Given the description of an element on the screen output the (x, y) to click on. 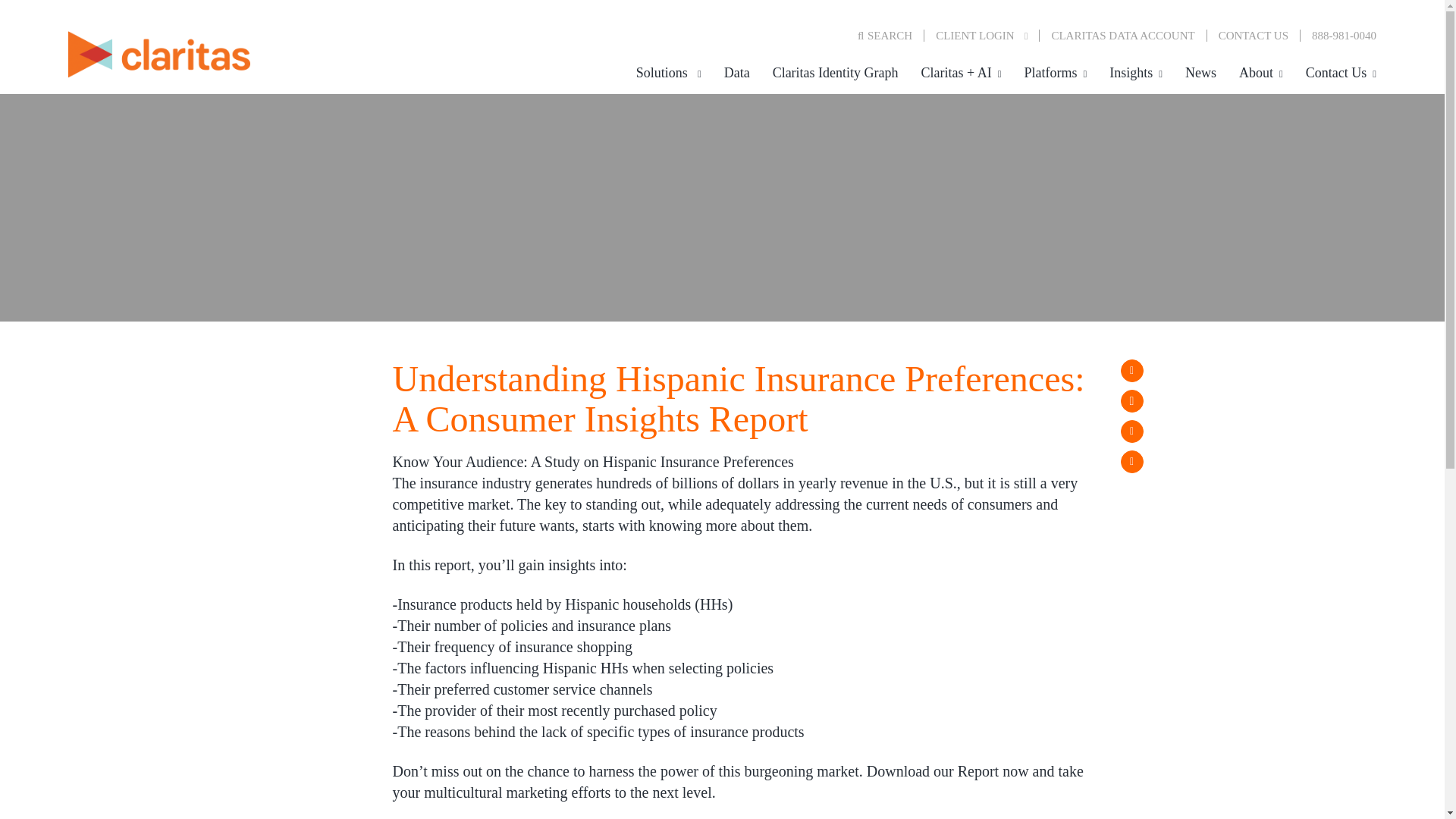
email (1131, 461)
linkedin (1131, 431)
Solutions (668, 72)
Claritas Identity Graph (835, 72)
888-981-0040 (1337, 35)
CONTACT US (1253, 35)
facebook (1131, 370)
CLIENT LOGIN (987, 35)
CLARITAS DATA ACCOUNT (1123, 35)
twitter (1131, 400)
